Given the description of an element on the screen output the (x, y) to click on. 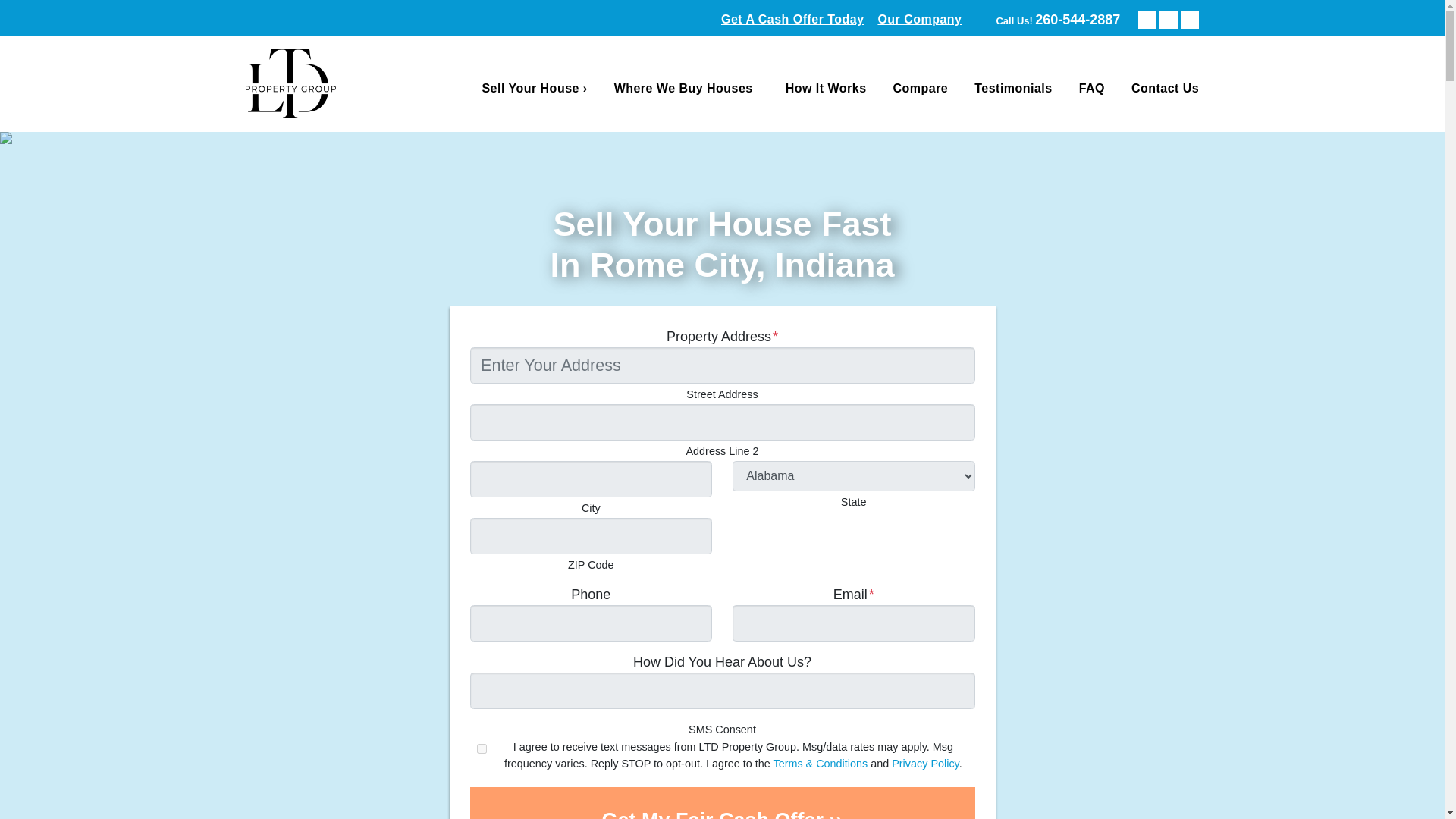
Open Submenu (764, 88)
Our Company (918, 19)
Instagram (1057, 19)
FAQ (1189, 19)
Where We Buy Houses (1091, 88)
How It Works (681, 88)
Get A Cash Offer Today (825, 88)
Facebook (792, 19)
Contact Us (1147, 19)
